Given the description of an element on the screen output the (x, y) to click on. 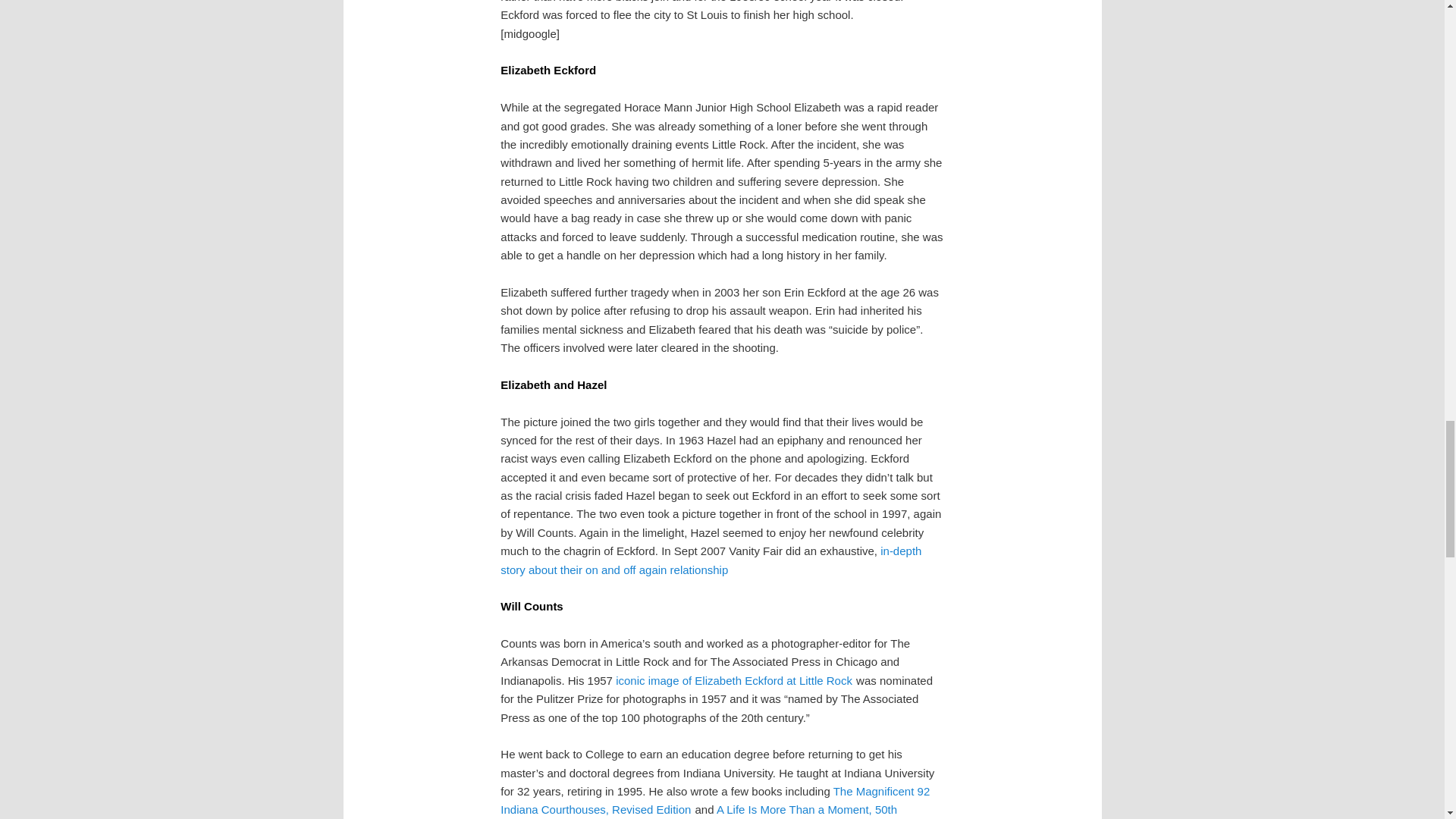
The Magnificent 92 Indiana Courthouses, Revised Edition (715, 799)
iconic image of Elizabeth Eckford at Little Rock (733, 680)
in-depth story about their on and off again relationship (710, 559)
